Given the description of an element on the screen output the (x, y) to click on. 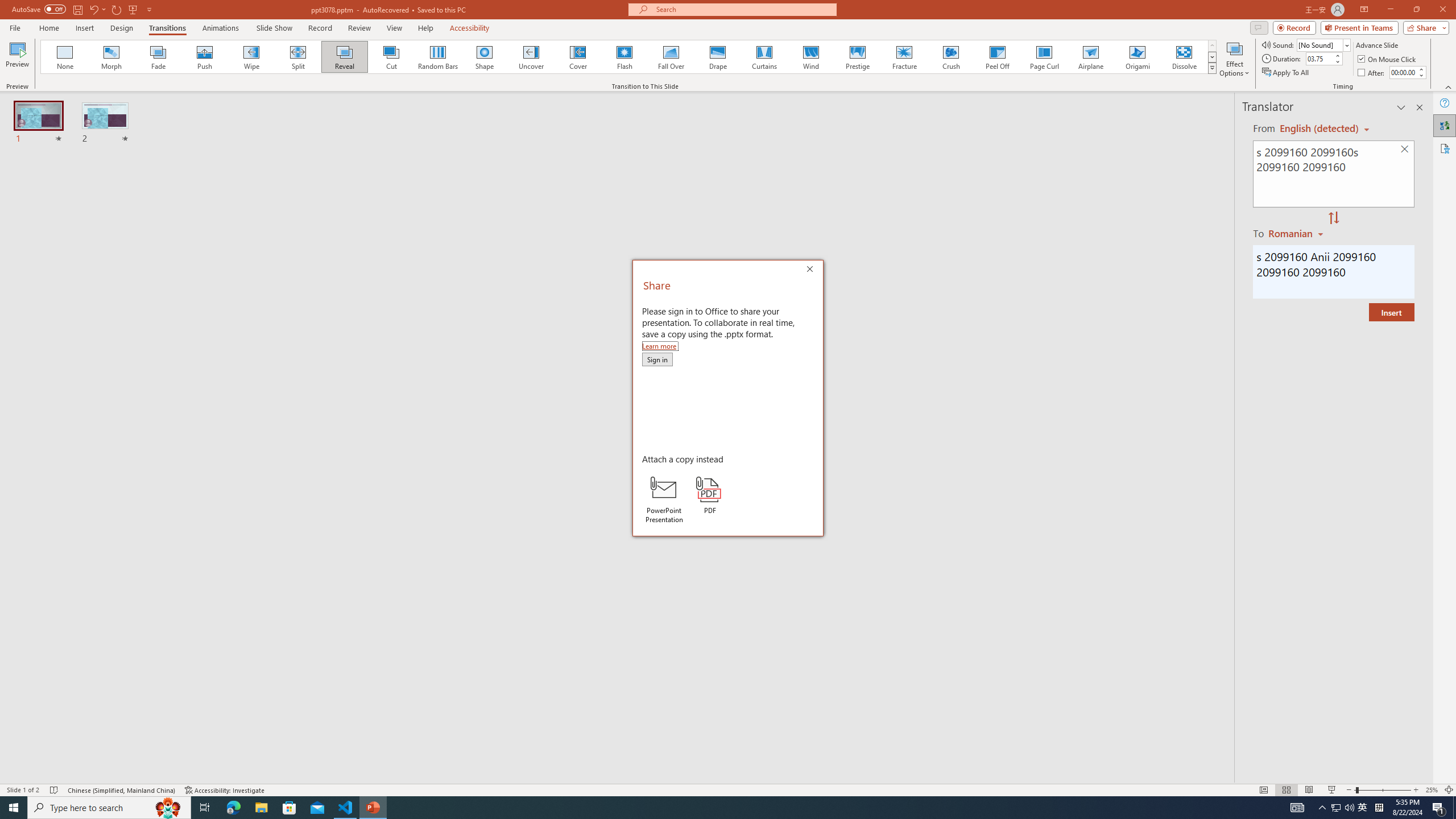
Drape (717, 56)
Running applications (707, 807)
Clear text (1404, 149)
Microsoft Edge (233, 807)
Prestige (857, 56)
